Given the description of an element on the screen output the (x, y) to click on. 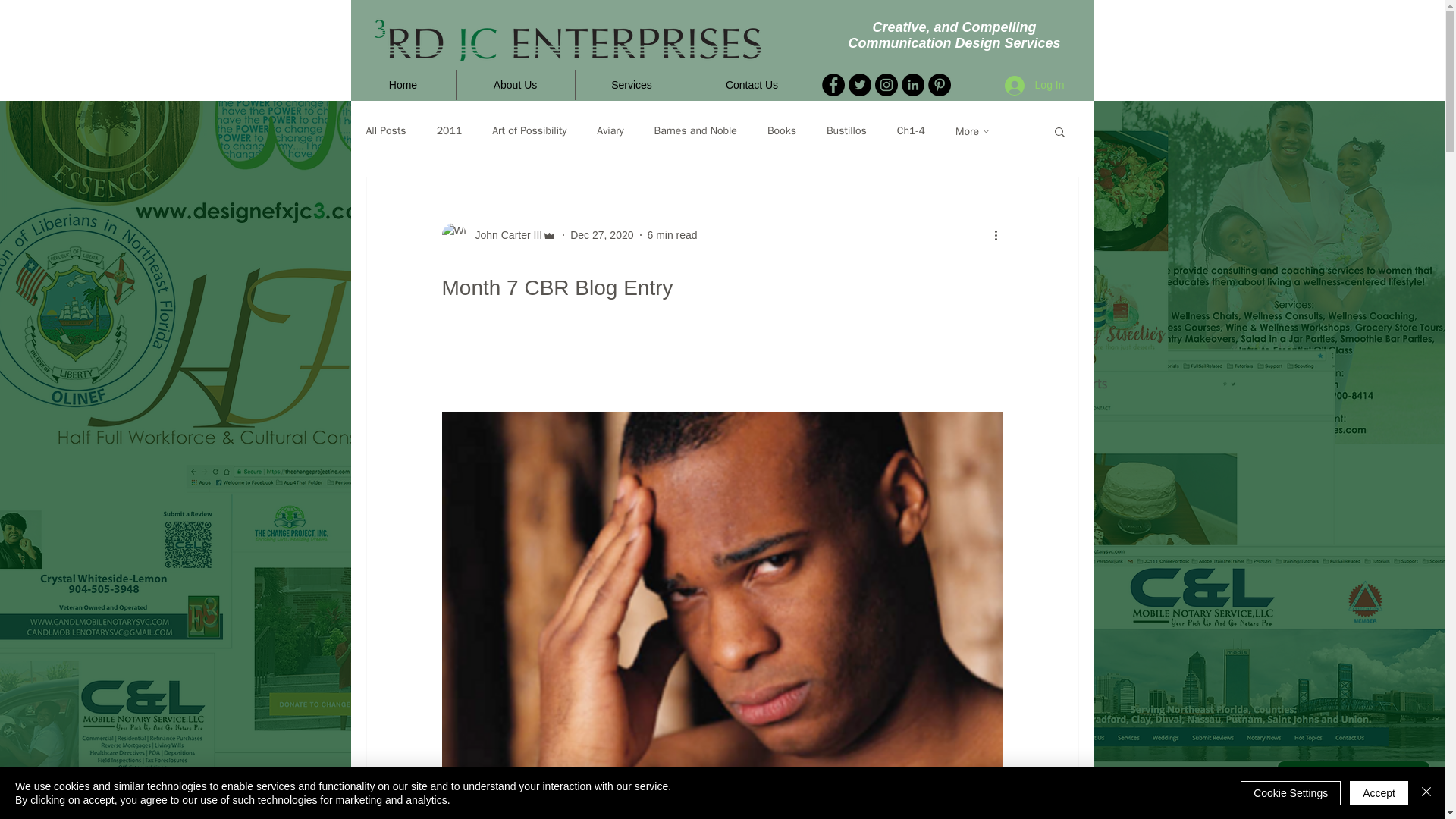
Contact Us (750, 84)
Aviary (609, 131)
2011 (449, 131)
About Us (516, 84)
Dec 27, 2020 (601, 234)
Barnes and Noble (694, 131)
Books (781, 131)
John Carter III (503, 235)
Art of Possibility (529, 131)
6 min read (672, 234)
John Carter III (498, 234)
All Posts (385, 131)
Home (402, 84)
Log In (1034, 85)
Bustillos (846, 131)
